Given the description of an element on the screen output the (x, y) to click on. 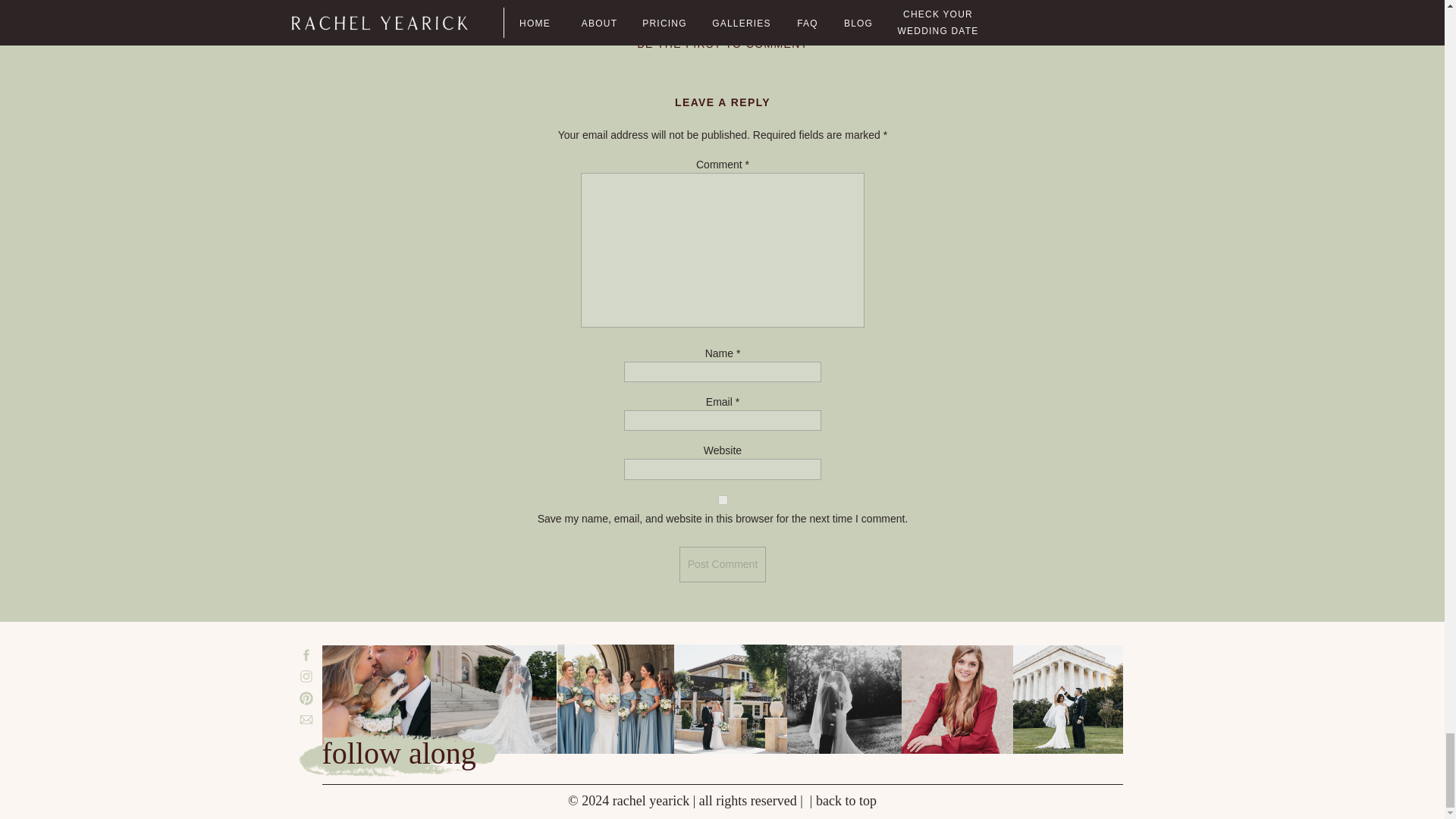
back to top (845, 800)
FAQ (918, 768)
BLOG (999, 768)
BE THE FIRST TO COMMENT (722, 43)
ABOUT (611, 768)
PRICING (710, 768)
Post Comment (723, 564)
GALLERIES (820, 768)
Post Comment (723, 564)
yes (722, 500)
